Given the description of an element on the screen output the (x, y) to click on. 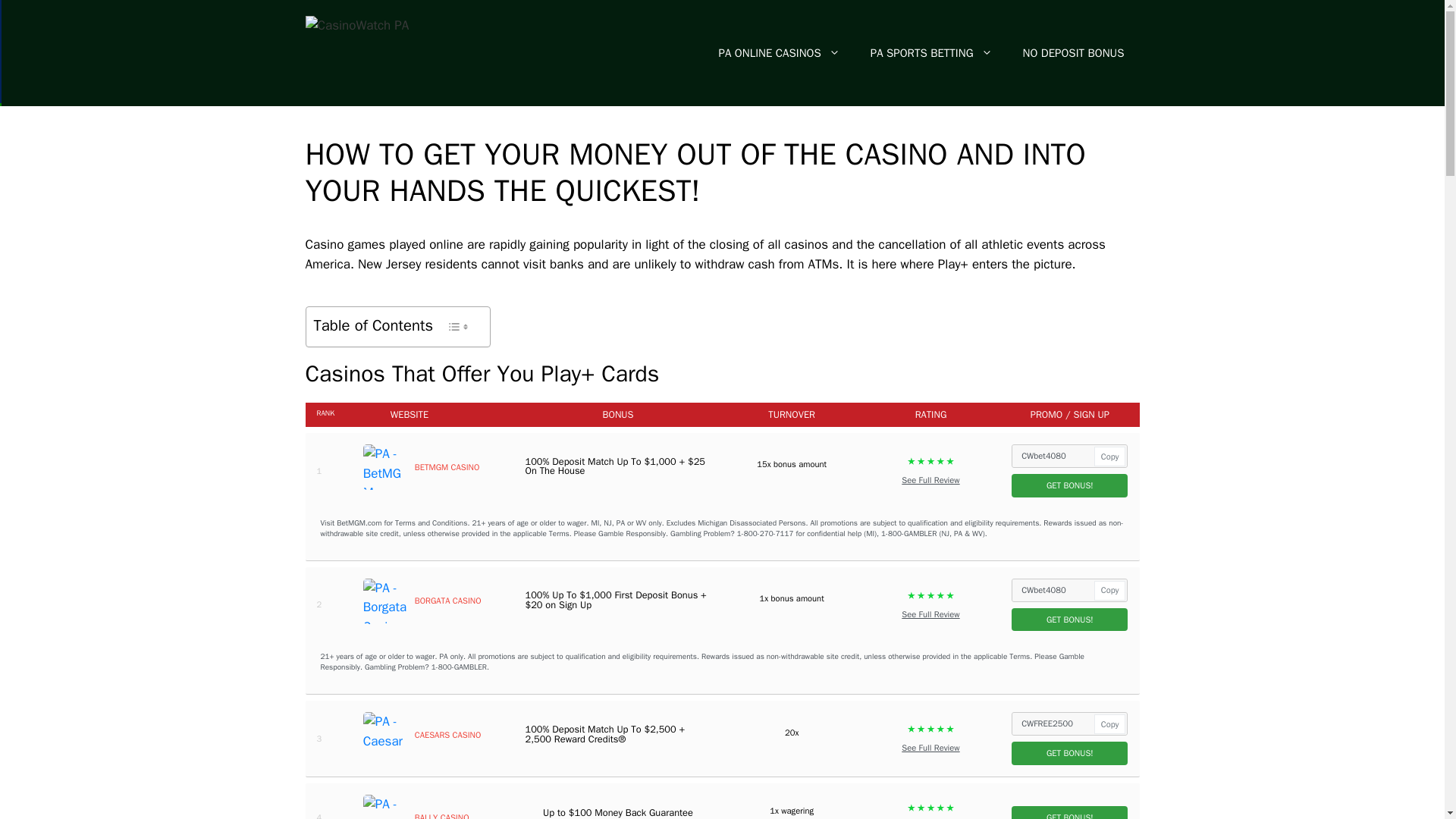
PA ONLINE CASINOS (779, 52)
CWbet4080 (1068, 590)
PA - BetMGM Casino (385, 466)
PA - Bally Casino (385, 806)
CWbet4080 (1068, 455)
PA SPORTS BETTING (931, 52)
PA - Borgata Casino (385, 601)
CWFREE2500 (1068, 723)
NO DEPOSIT BONUS (1073, 52)
PA - Caesars Casino (385, 734)
